Given the description of an element on the screen output the (x, y) to click on. 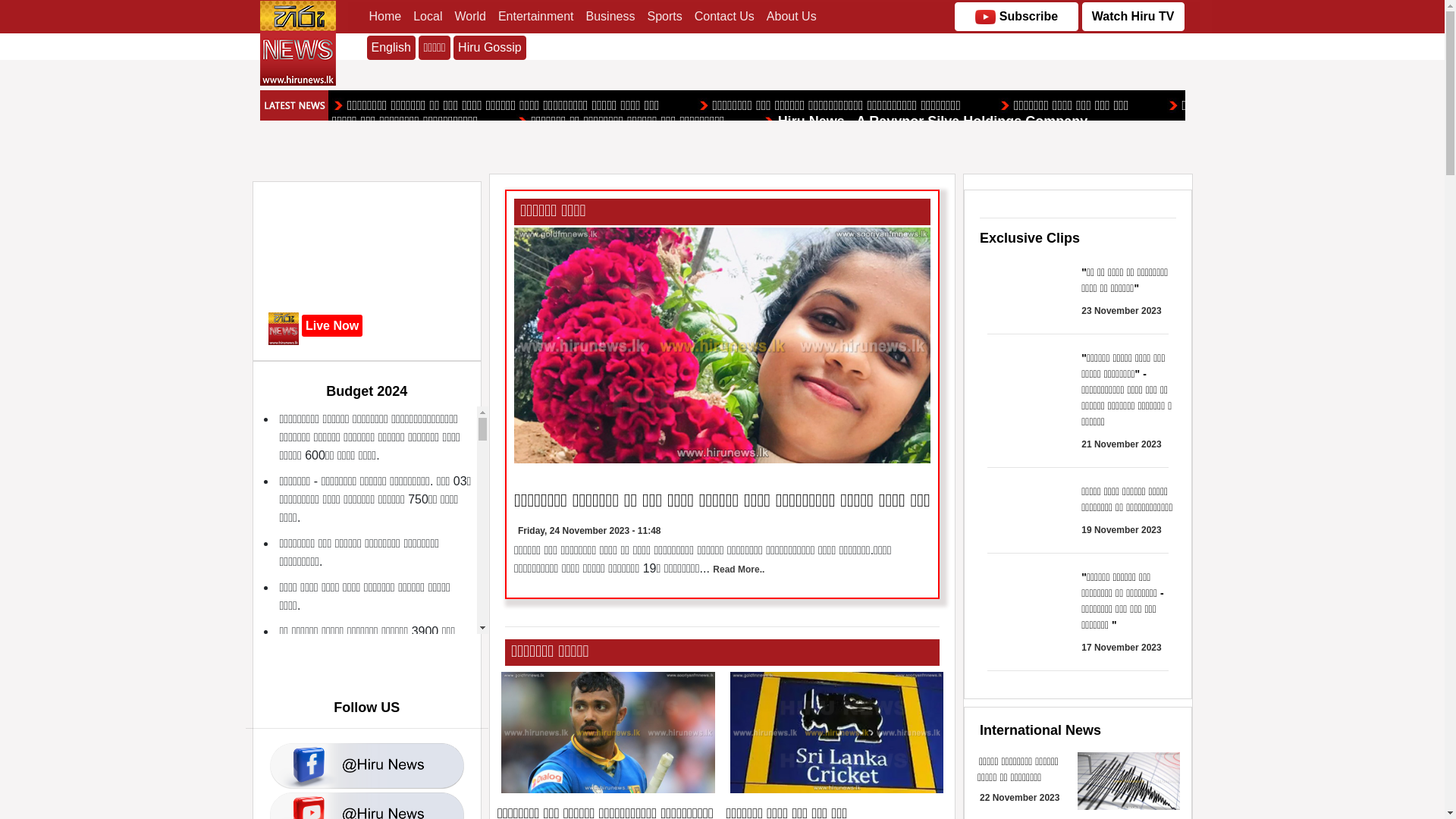
Home
(current) Element type: text (384, 16)
Business
(current) Element type: text (610, 16)
Subscribe Element type: text (1015, 16)
Hiru Gossip Element type: text (489, 47)
Watch Hiru TV Element type: text (1133, 16)
Sports
(current) Element type: text (663, 16)
World
(current) Element type: text (470, 16)
Contact Us
(current) Element type: text (724, 16)
English Element type: text (391, 47)
Entertainment
(current) Element type: text (536, 16)
About Us
(current) Element type: text (791, 16)
Local
(current) Element type: text (427, 16)
Read More.. Element type: text (738, 569)
